Given the description of an element on the screen output the (x, y) to click on. 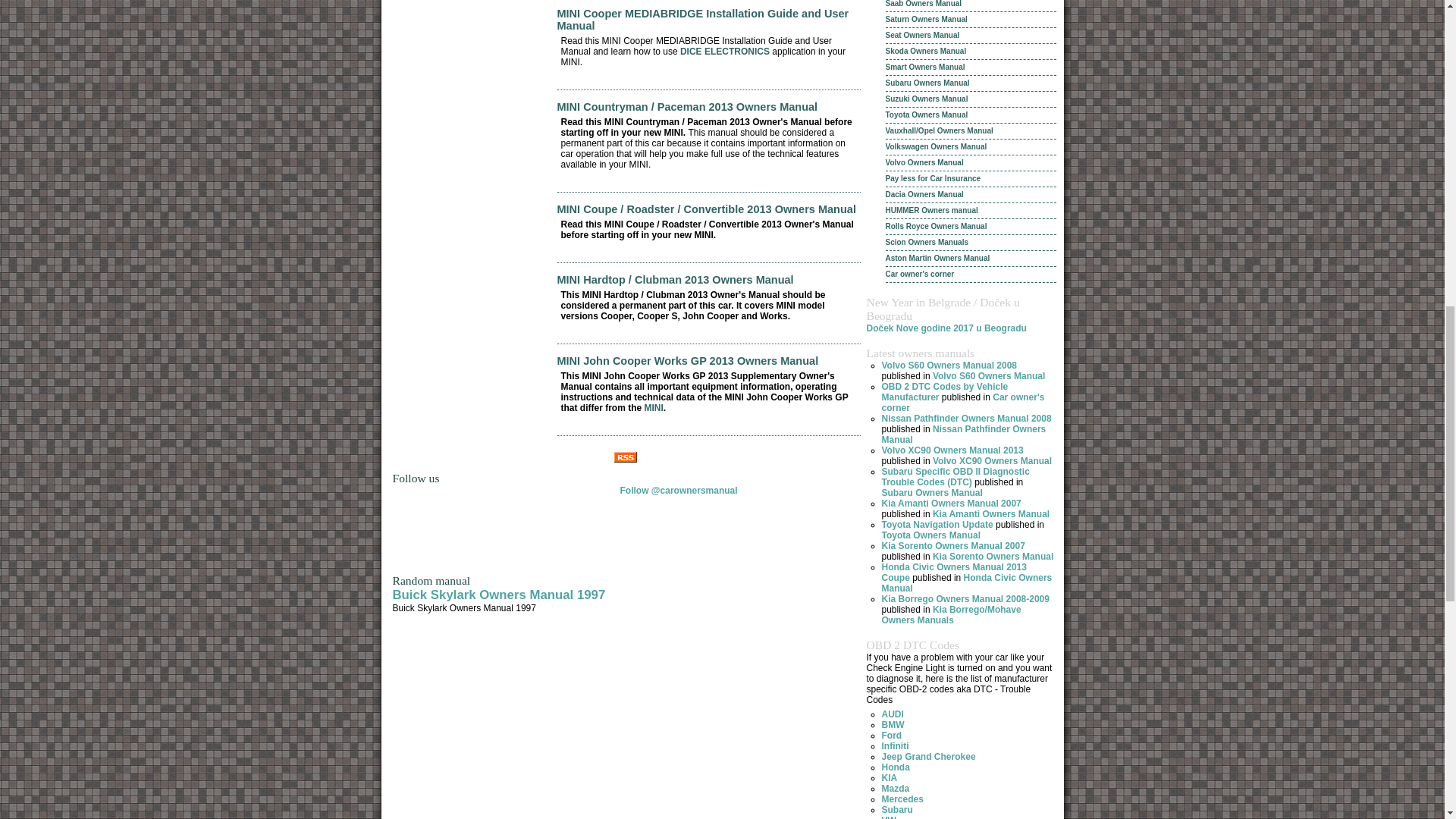
Infiniti specific OBD-2 DTC list (894, 746)
Jeep Grand Cherokee specific OBD-2 DTC list (927, 756)
Mercedes specific OBD-2 DTC list (901, 798)
Kia specific OBD-2 DTC list (888, 777)
Volkswagen specific OBD-2 DTC list (887, 816)
BMW specific OBD-2 DTC list (892, 724)
Honda specific OBD-2 DTC list (894, 767)
Subaru specific OBD-2 DTC list (896, 809)
Mazda specific OBD-2 DTC list (894, 787)
Ford specific OBD-2 DTC list (890, 735)
